Given the description of an element on the screen output the (x, y) to click on. 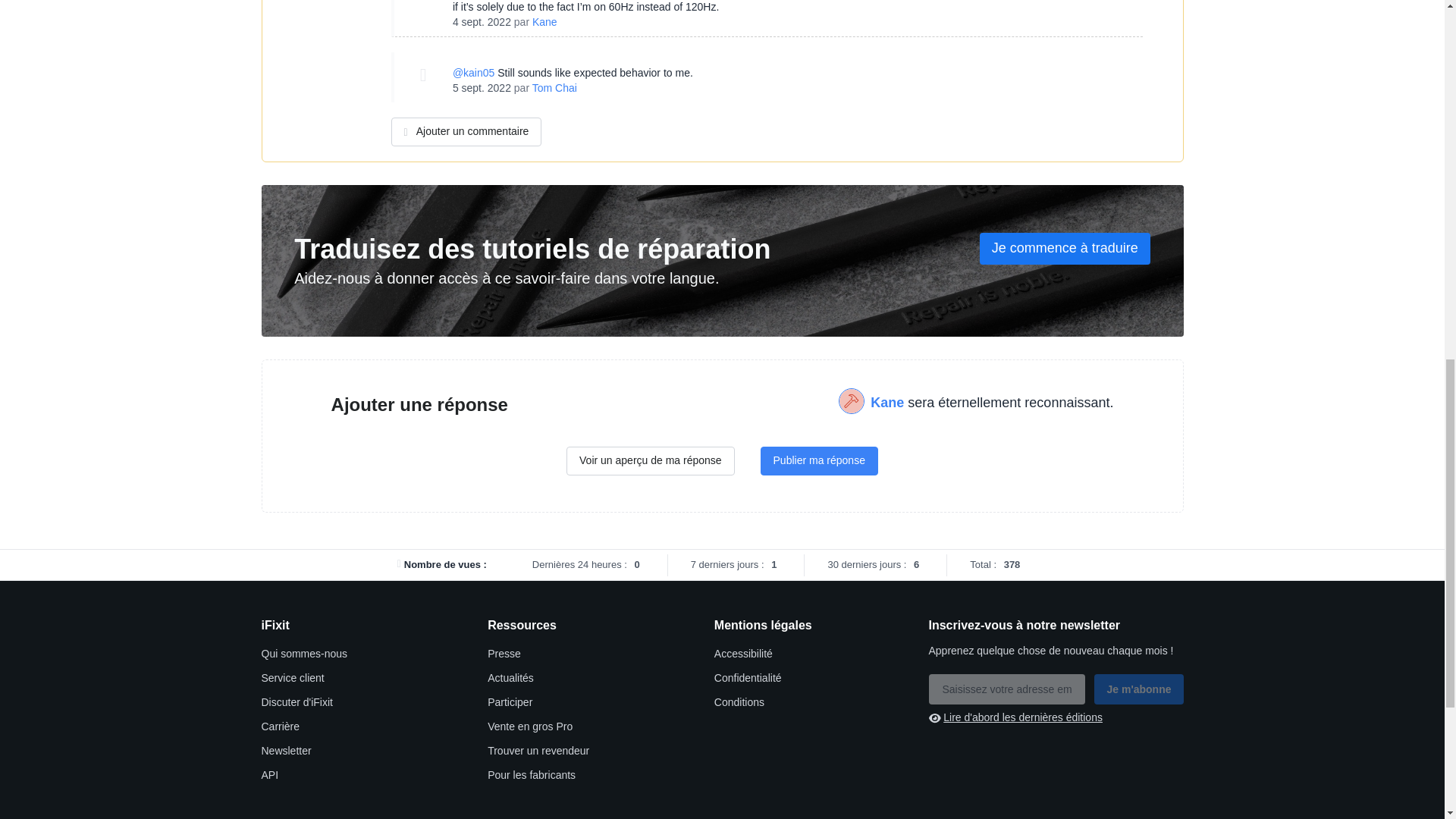
Sun, 04 Sep 2022 16:15:27 -0700 (481, 21)
Mon, 05 Sep 2022 02:13:39 -0700 (481, 87)
